Given the description of an element on the screen output the (x, y) to click on. 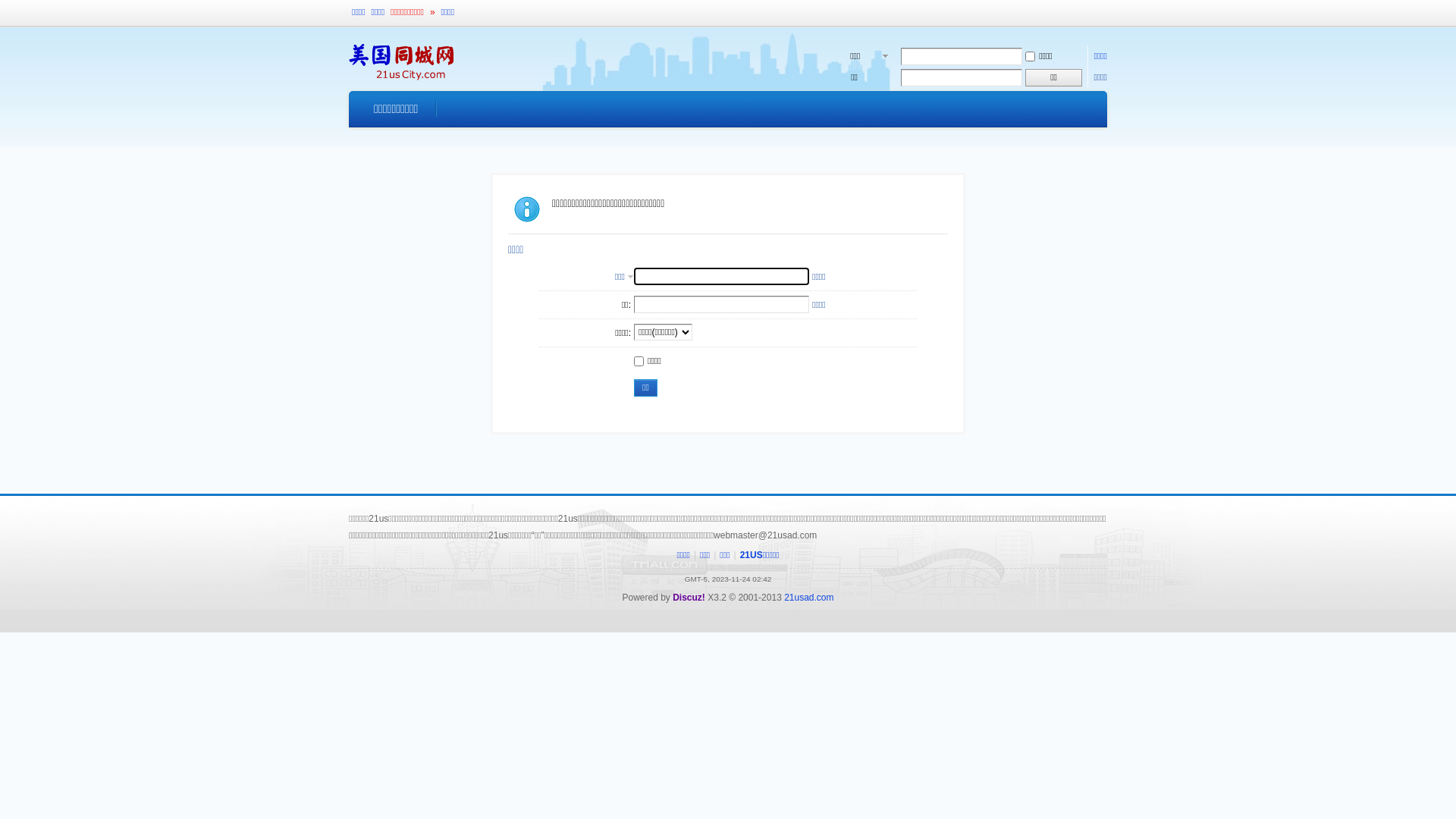
Discuz! Element type: text (688, 597)
21usad.com Element type: text (808, 597)
